Given the description of an element on the screen output the (x, y) to click on. 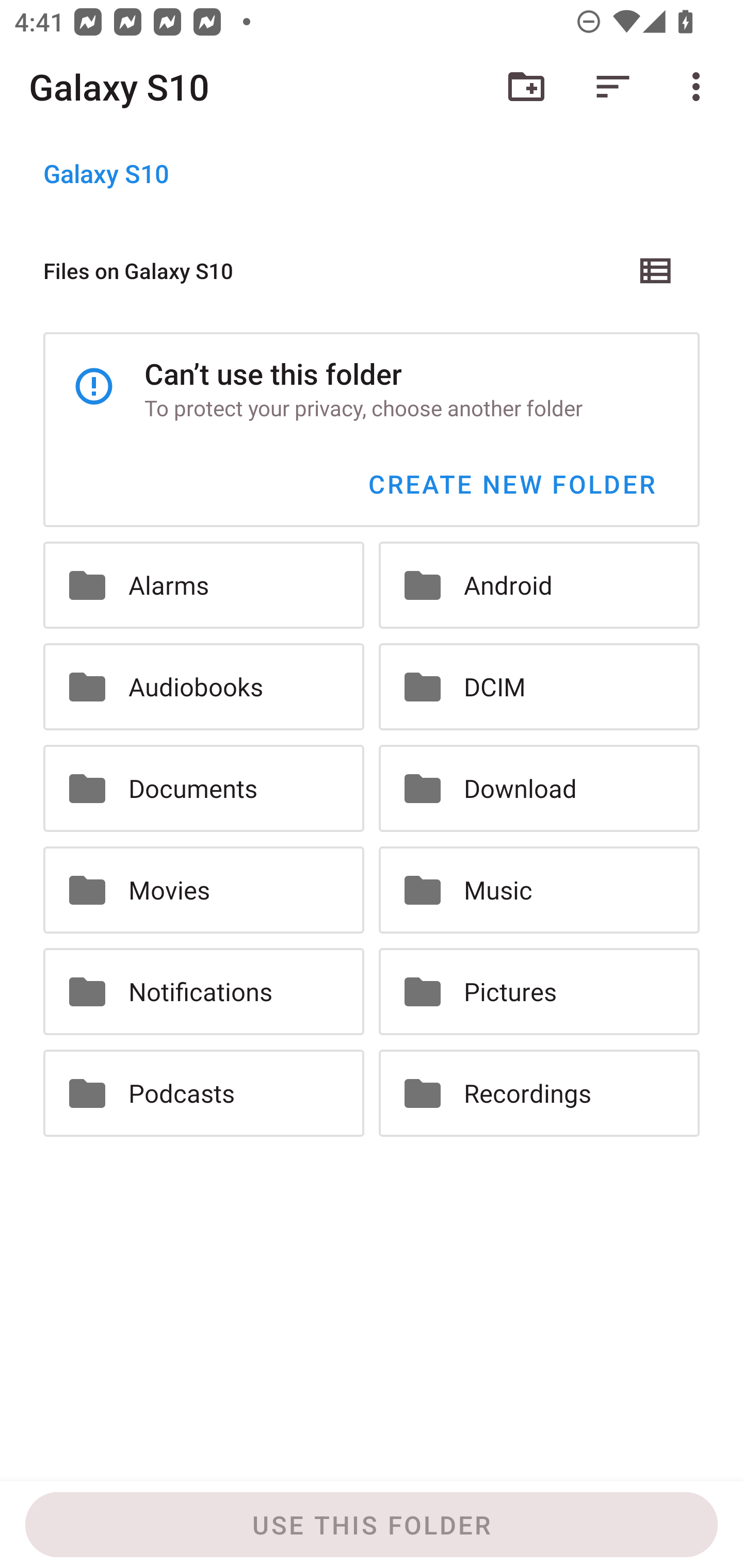
New folder (525, 86)
Sort by... (612, 86)
More options (699, 86)
List view (655, 270)
CREATE NEW FOLDER (511, 483)
Alarms (203, 584)
Android (538, 584)
Audiobooks (203, 686)
DCIM (538, 686)
Documents (203, 788)
Download (538, 788)
Movies (203, 889)
Music (538, 889)
Notifications (203, 991)
Pictures (538, 991)
Podcasts (203, 1092)
Recordings (538, 1092)
USE THIS FOLDER (371, 1524)
